Given the description of an element on the screen output the (x, y) to click on. 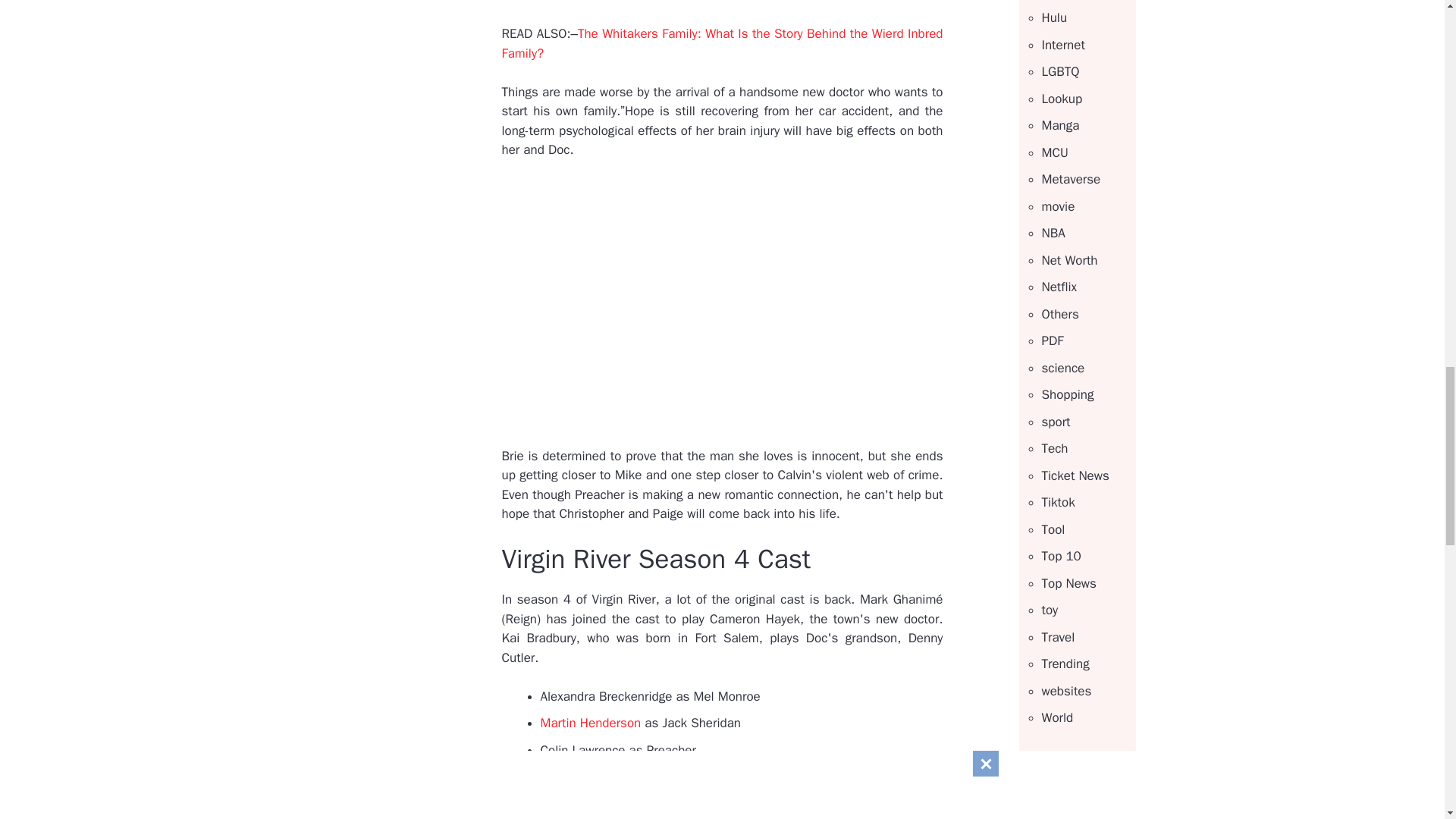
Martin Henderson (590, 722)
